Given the description of an element on the screen output the (x, y) to click on. 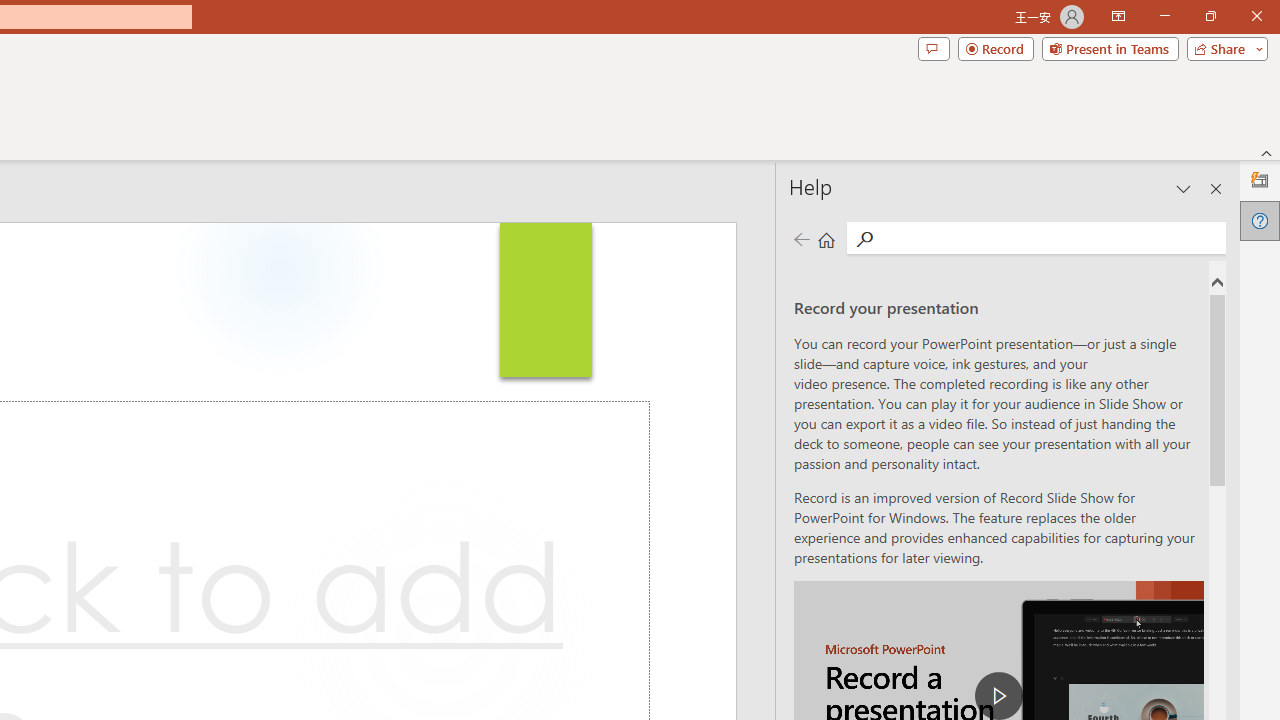
Minimize (1164, 16)
Search (864, 238)
Ribbon Display Options (1118, 16)
Present in Teams (1109, 48)
Restore Down (1210, 16)
Home (826, 238)
Close pane (1215, 188)
Share (1223, 48)
play Record a Presentation (998, 695)
Record (995, 48)
Previous page (801, 238)
Close (1256, 16)
Search (1049, 237)
Collapse the Ribbon (1267, 152)
